Given the description of an element on the screen output the (x, y) to click on. 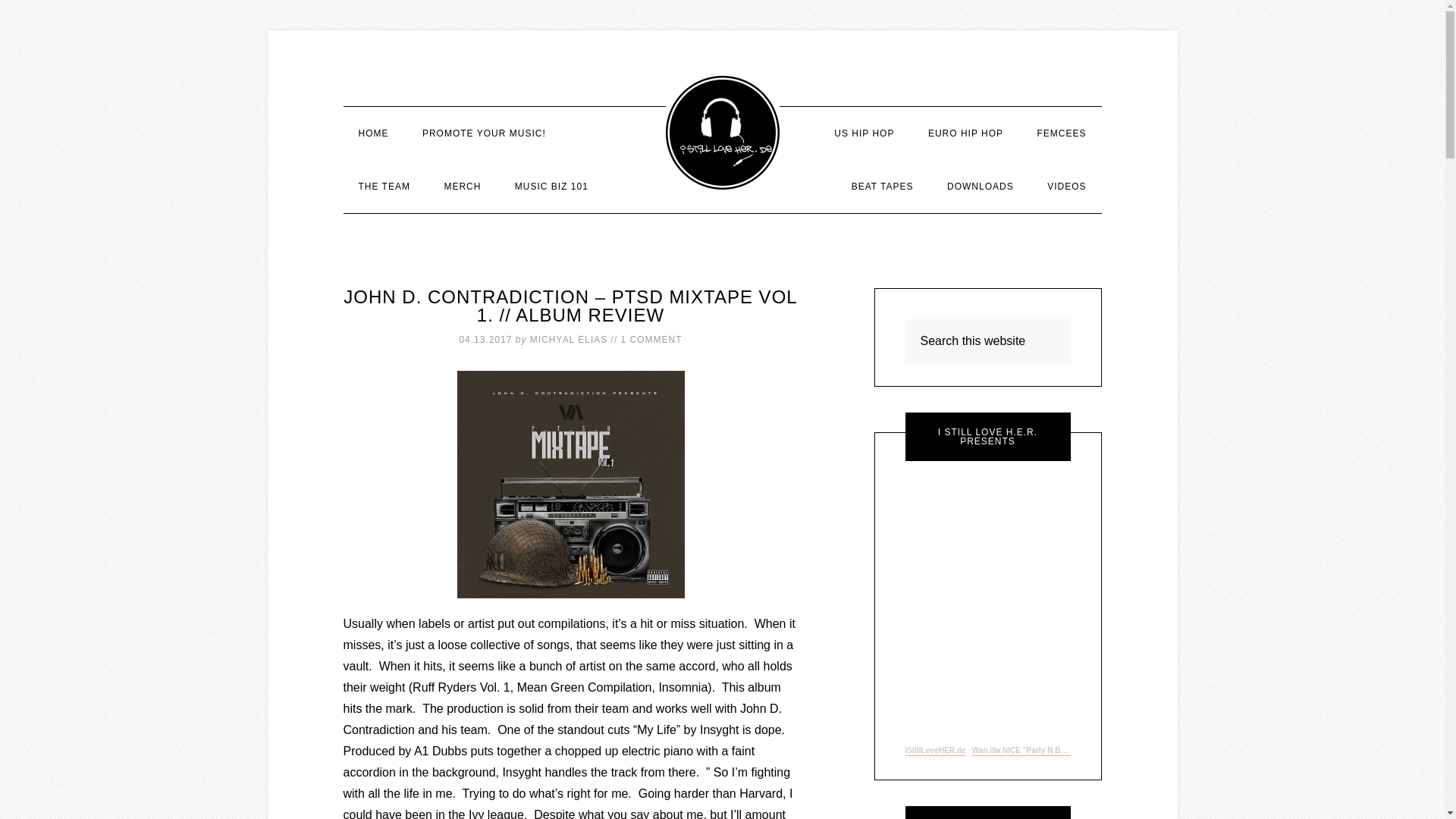
MICHYAL ELIAS (568, 339)
I STILL LOVE H.E.R. - HIP HOP BLOG (721, 132)
IStillLoveHER.de (935, 750)
1 COMMENT (651, 339)
BEAT TAPES (881, 185)
PROMOTE YOUR MUSIC! (483, 133)
MUSIC BIZ 101 (551, 185)
DOWNLOADS (980, 185)
VIDEOS (1066, 185)
US HIP HOP (863, 133)
THE TEAM (383, 185)
HOME (372, 133)
FEMCEES (1061, 133)
